Given the description of an element on the screen output the (x, y) to click on. 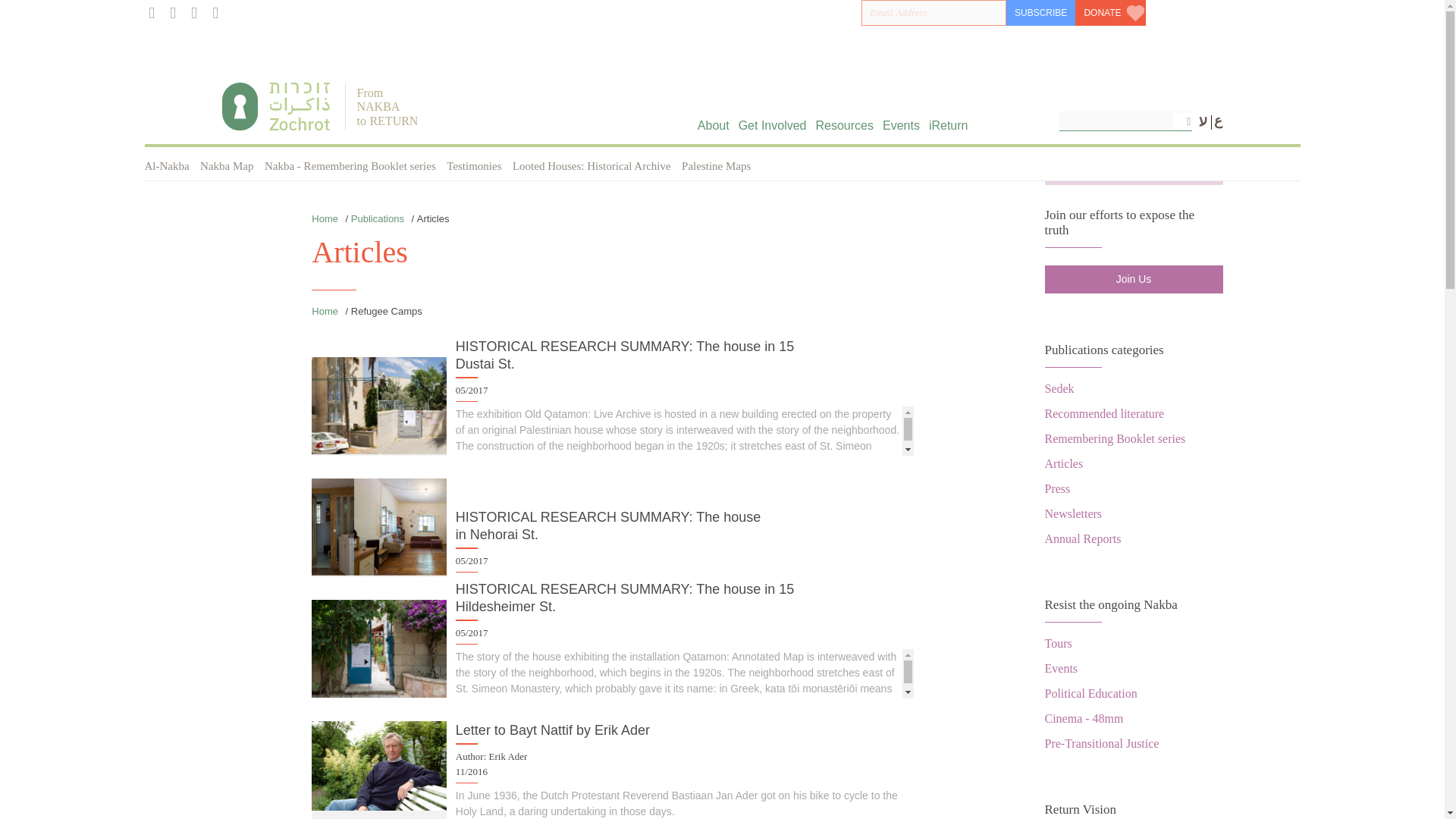
iReturn (948, 124)
DONATE (1109, 12)
Events (901, 124)
Get Involved (772, 124)
About (713, 124)
SUBSCRIBE (1040, 12)
Resources (844, 124)
